Given the description of an element on the screen output the (x, y) to click on. 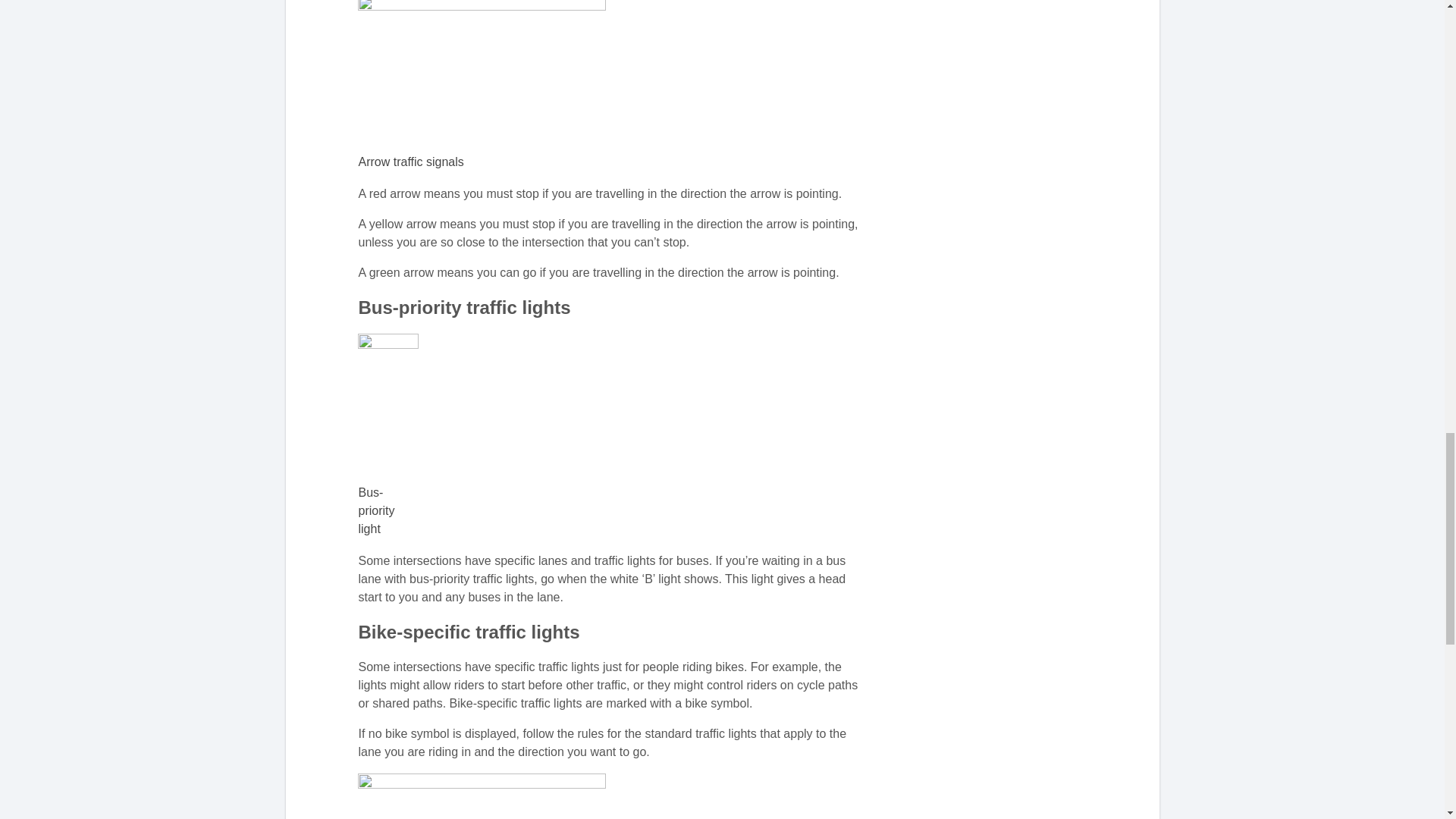
Arrow lights all (481, 73)
Cycle lights all (481, 796)
